Given the description of an element on the screen output the (x, y) to click on. 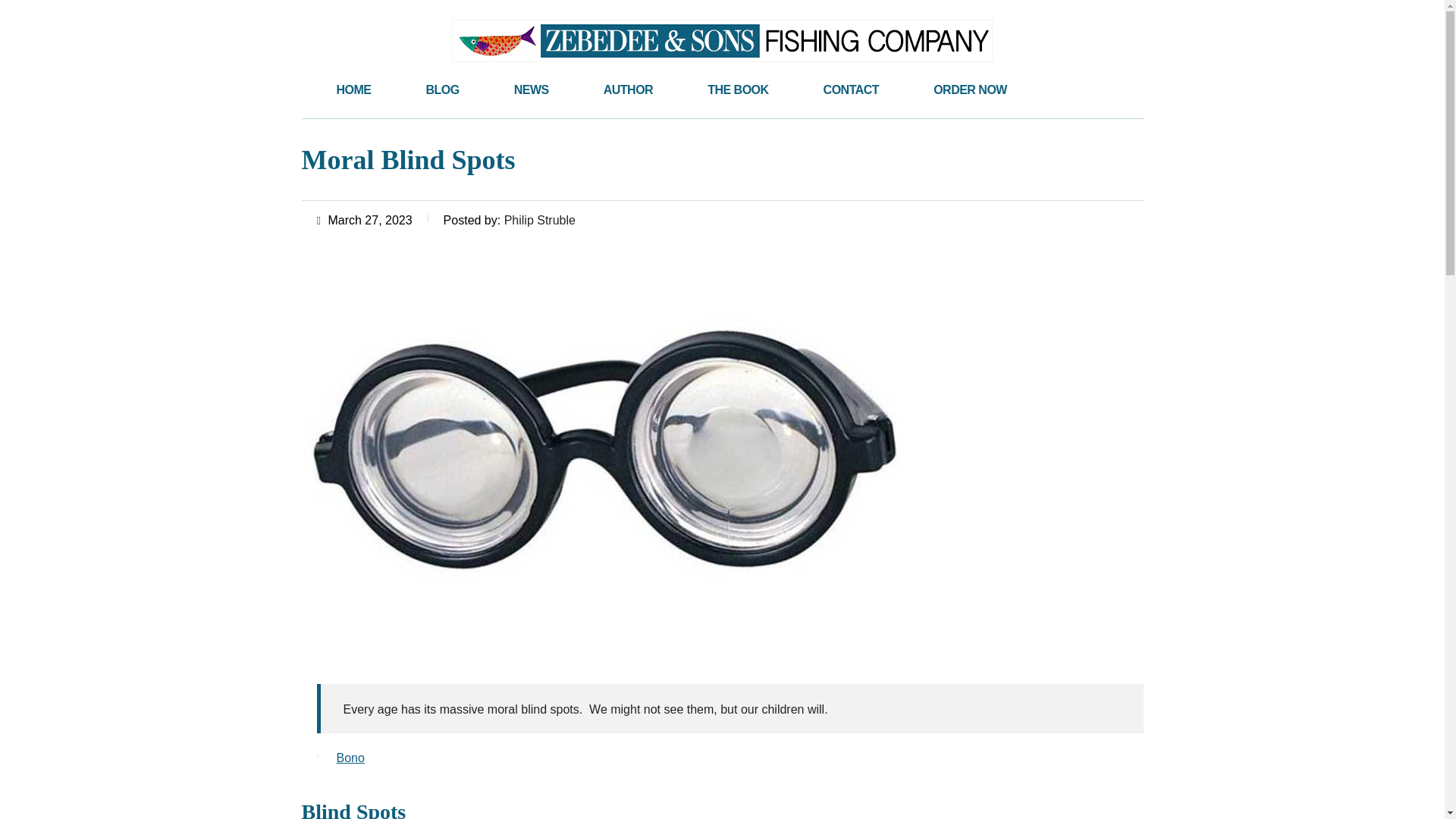
THE BOOK (737, 89)
ORDER NOW (970, 89)
BLOG (442, 89)
CONTACT (851, 89)
AUTHOR (627, 89)
Bono (350, 757)
HOME (354, 89)
NEWS (532, 89)
